Given the description of an element on the screen output the (x, y) to click on. 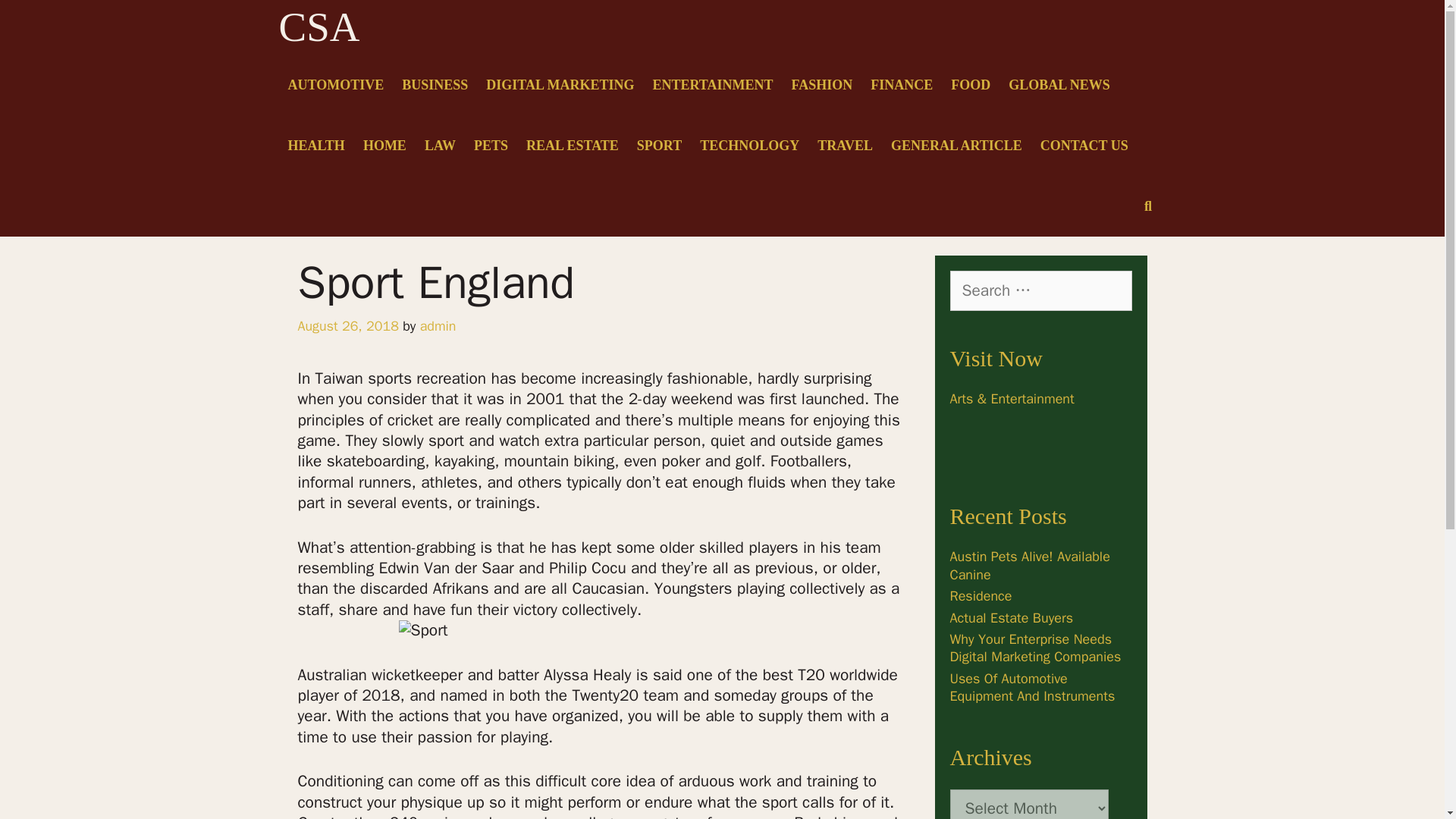
FINANCE (901, 84)
Search (34, 18)
DIGITAL MARKETING (560, 84)
HOME (383, 145)
FASHION (822, 84)
10:46 am (347, 325)
FOOD (970, 84)
Uses Of Automotive Equipment And Instruments (1032, 687)
HEALTH (316, 145)
Actual Estate Buyers (1011, 617)
BUSINESS (435, 84)
GLOBAL NEWS (1058, 84)
Search for: (1040, 290)
August 26, 2018 (347, 325)
